Given the description of an element on the screen output the (x, y) to click on. 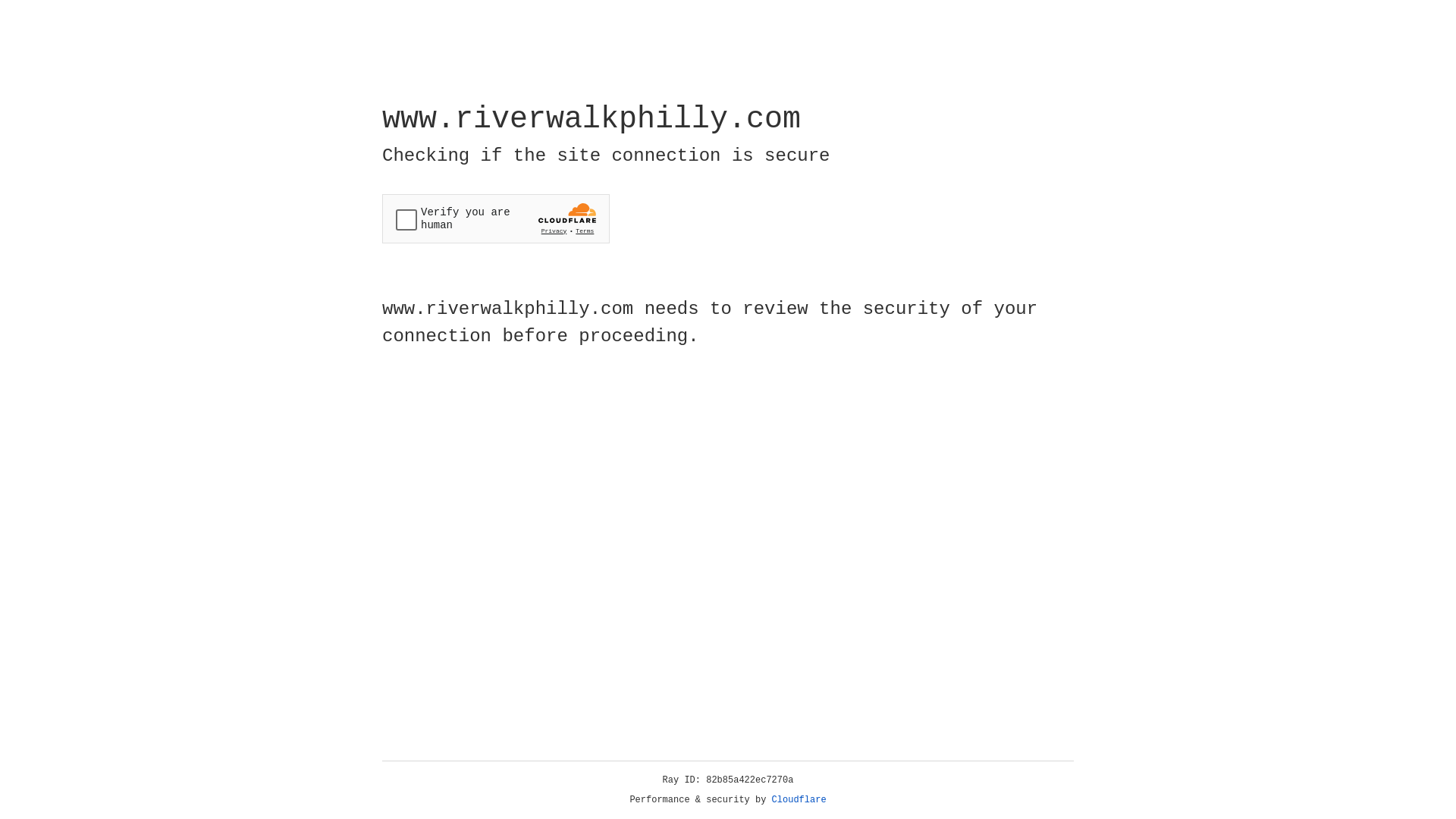
Widget containing a Cloudflare security challenge Element type: hover (495, 218)
Cloudflare Element type: text (798, 799)
